Given the description of an element on the screen output the (x, y) to click on. 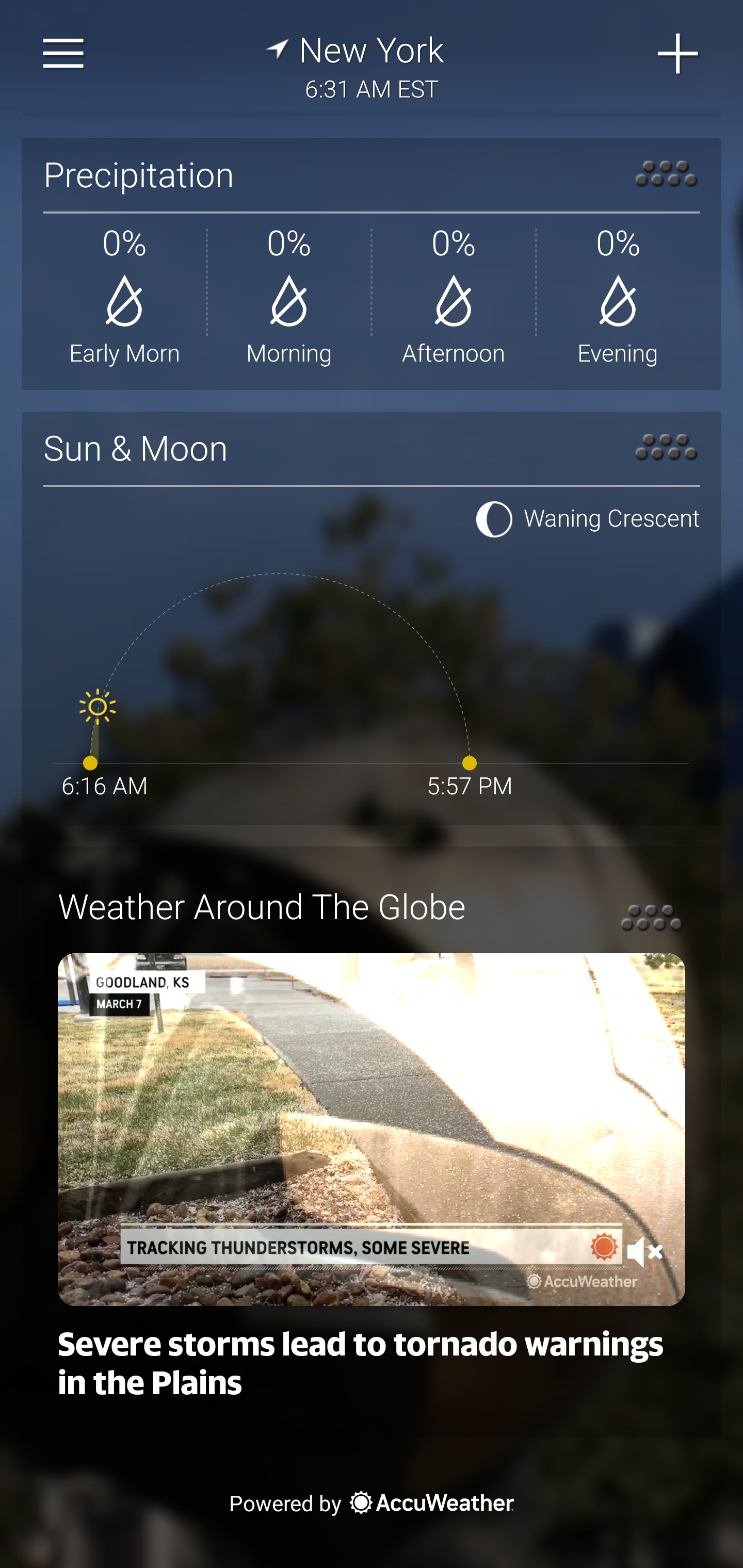
Sidebar (64, 54)
Add City (678, 53)
Unmute (645, 1252)
Powered by (371, 1502)
